Given the description of an element on the screen output the (x, y) to click on. 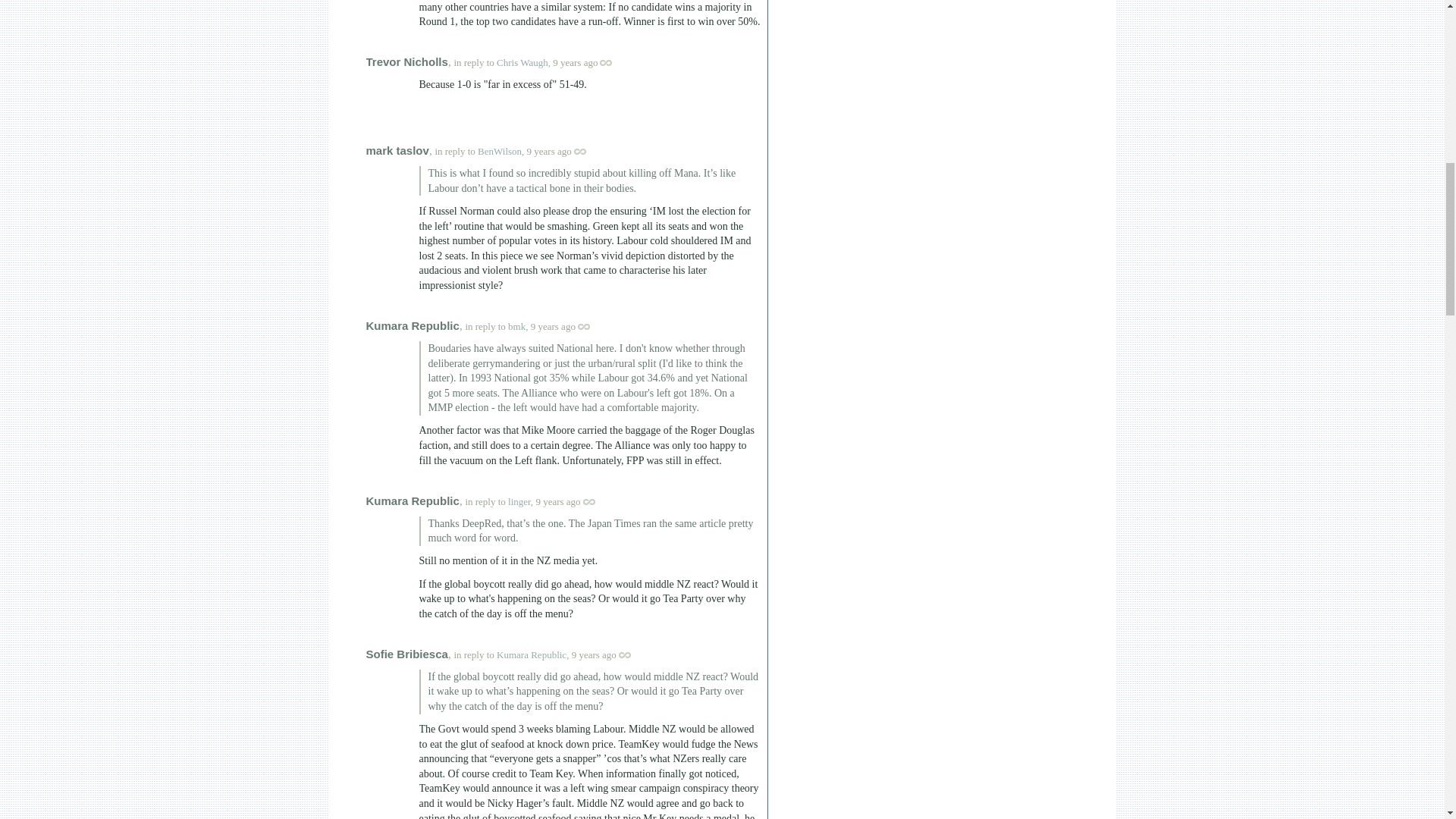
23:36 Oct 6, 2014 (553, 326)
18:15 Oct 6, 2014 (574, 61)
mark taslov (396, 150)
9 years ago (590, 61)
BenWilson, (500, 151)
bmk, (517, 326)
Chris Waugh, (523, 61)
09:42 Oct 7, 2014 (593, 654)
00:00 Oct 7, 2014 (557, 501)
Trevor Nicholls (405, 61)
